Given the description of an element on the screen output the (x, y) to click on. 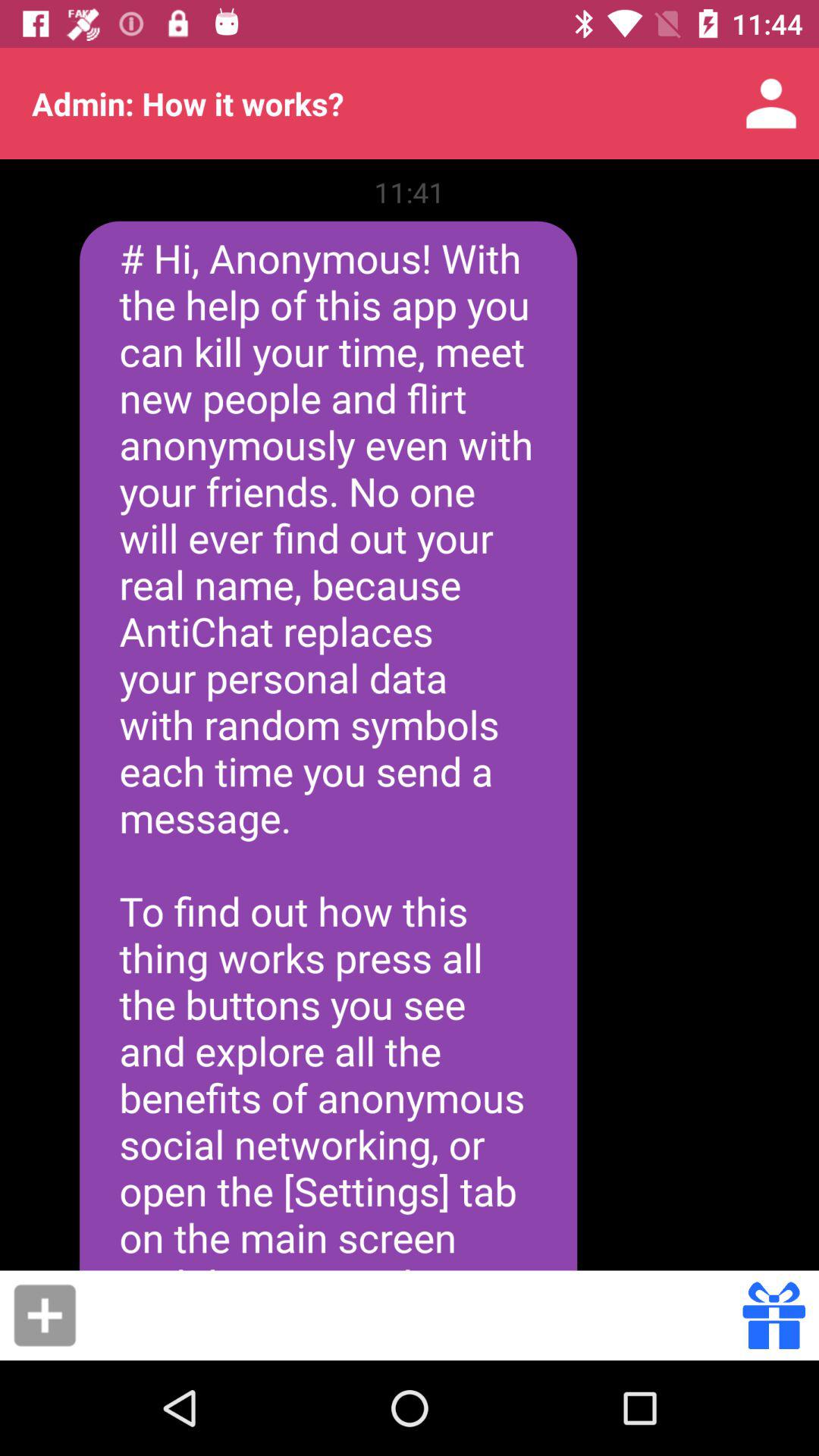
turn off icon to the right of the admin how it app (771, 103)
